Given the description of an element on the screen output the (x, y) to click on. 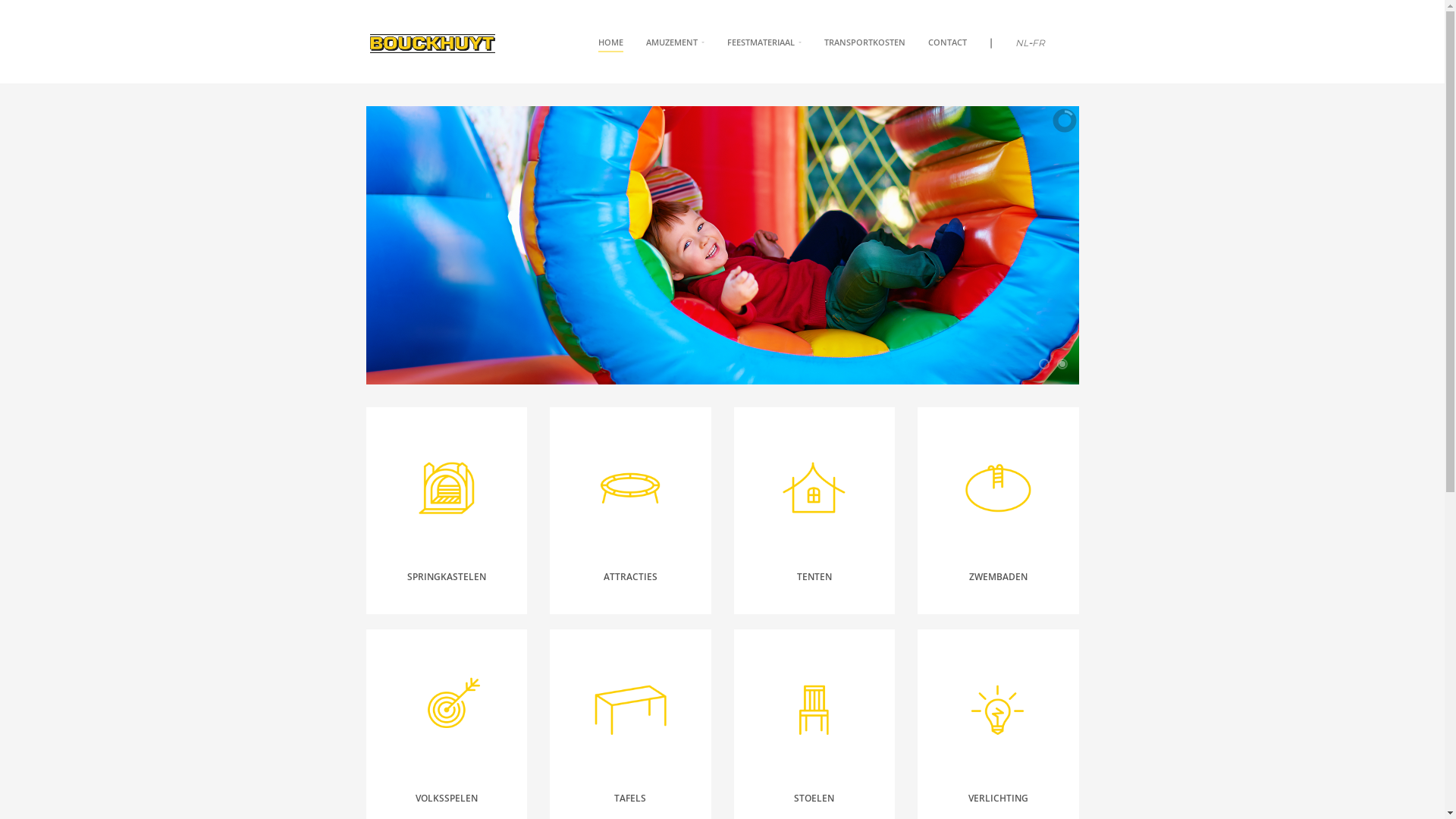
FR Element type: text (1037, 42)
SPRINGKASTELEN Element type: text (446, 576)
HOME Element type: text (609, 43)
STOELEN Element type: text (813, 797)
TRANSPORTKOSTEN Element type: text (863, 42)
VOLKSSPELEN Element type: text (446, 797)
ATTRACTIES Element type: text (630, 576)
FEESTMATERIAAL Element type: text (763, 42)
ZWEMBADEN Element type: text (998, 576)
AMUZEMENT Element type: text (675, 42)
VERLICHTING Element type: text (998, 797)
NL Element type: text (1020, 42)
TENTEN Element type: text (814, 576)
CONTACT Element type: text (947, 42)
TAFELS Element type: text (630, 797)
